Given the description of an element on the screen output the (x, y) to click on. 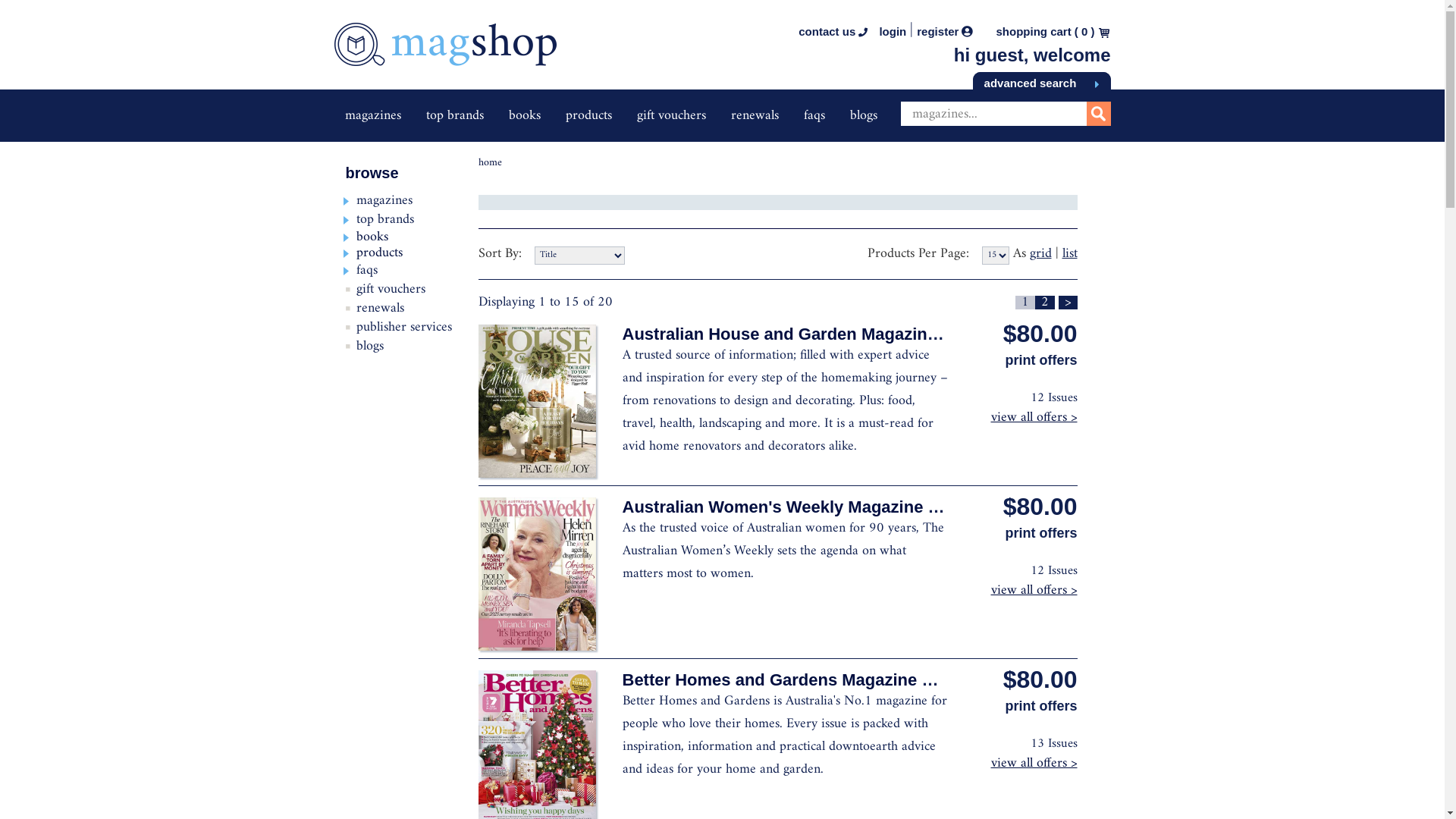
view all offers > Element type: text (1033, 417)
home Element type: text (489, 162)
top brands Element type: text (454, 115)
advanced search Element type: text (1041, 80)
blogs Element type: text (862, 115)
shopping cart ( 0 ) Element type: text (1044, 31)
contact us Element type: text (832, 31)
Australian Women's Weekly Magazine Subscription Element type: text (825, 506)
login Element type: text (892, 31)
publisher services Element type: text (403, 326)
faqs Element type: text (814, 115)
magazines Element type: text (384, 200)
Australian House and Garden Magazine Subscription Element type: text (831, 333)
magazines Element type: text (372, 115)
view all offers > Element type: text (1033, 590)
2 Element type: text (1044, 302)
Better Homes and Gardens Magazine Subscription Element type: text (821, 679)
gift vouchers Element type: text (390, 289)
> Element type: text (1067, 302)
grid Element type: text (1040, 253)
view all offers > Element type: text (1033, 763)
renewals Element type: text (380, 308)
books Element type: text (523, 115)
Home Element type: hover (444, 54)
list Element type: text (1068, 253)
top brands Element type: text (385, 219)
products Element type: text (588, 115)
faqs Element type: text (366, 270)
gift vouchers Element type: text (671, 115)
register  Element type: text (944, 31)
blogs Element type: text (369, 345)
renewals Element type: text (754, 115)
